Given the description of an element on the screen output the (x, y) to click on. 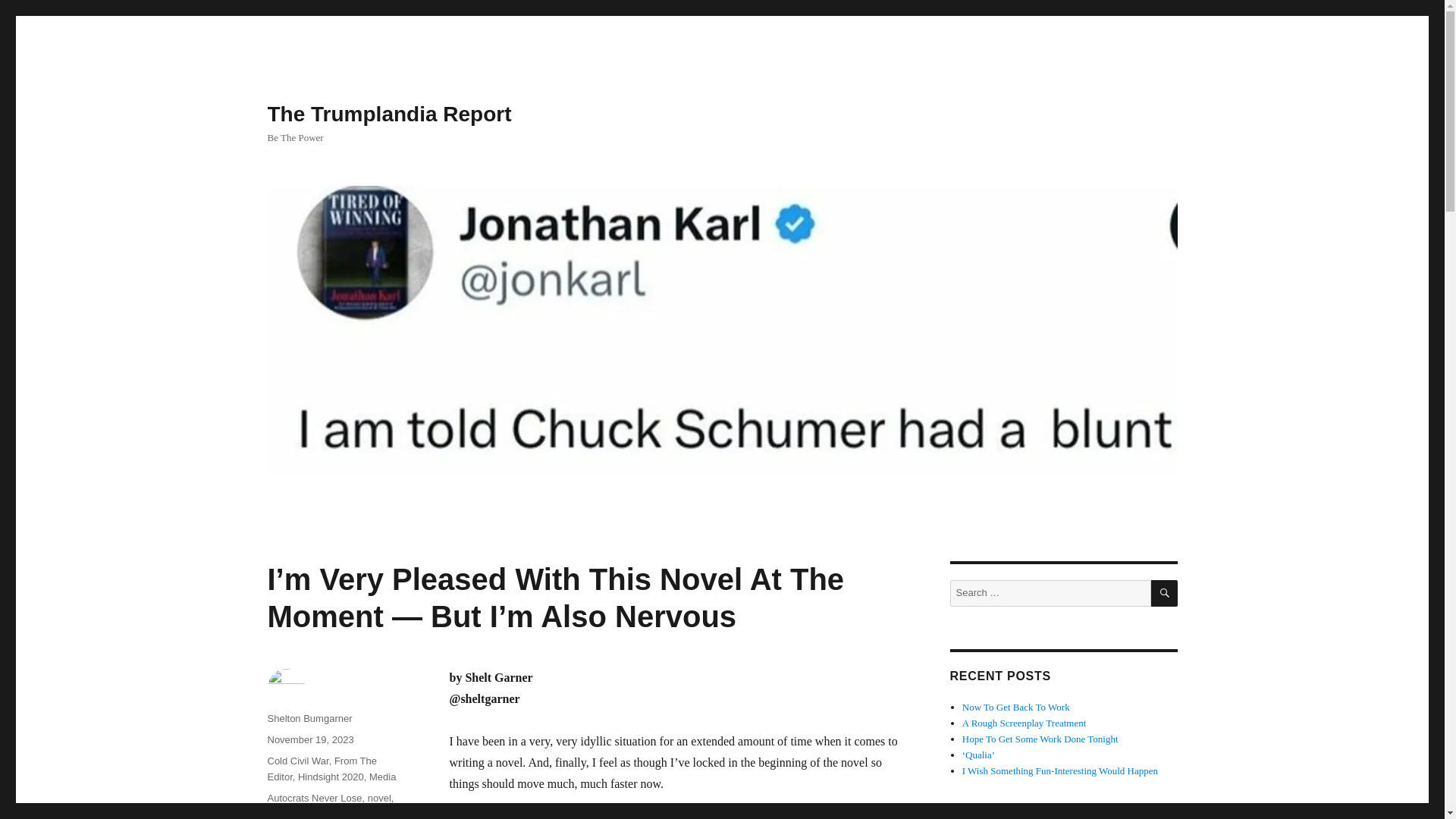
novel (379, 797)
SEARCH (1164, 592)
Autocrats Never Lose (313, 797)
Cold Civil War (297, 760)
November 19, 2023 (309, 739)
Hindsight 2020 (331, 776)
Media (382, 776)
From The Editor (321, 768)
The Trumplandia Report (388, 114)
Second American Civil War (325, 813)
